Given the description of an element on the screen output the (x, y) to click on. 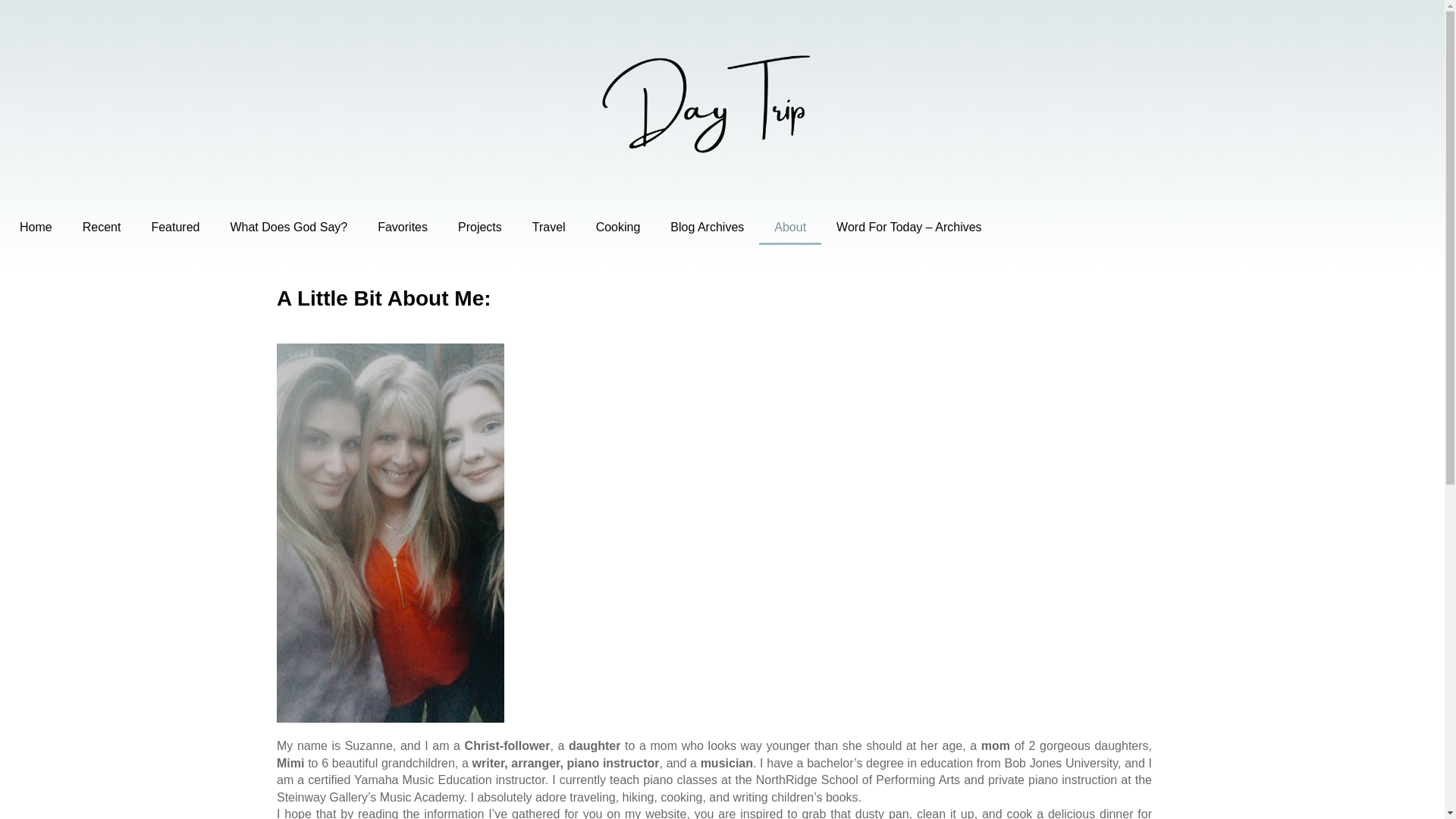
Featured (174, 226)
What Does God Say? (288, 226)
Cooking (618, 226)
About (789, 226)
Recent (101, 226)
Blog Archives (706, 226)
Projects (479, 226)
Favorites (402, 226)
Travel (548, 226)
Home (35, 226)
